Given the description of an element on the screen output the (x, y) to click on. 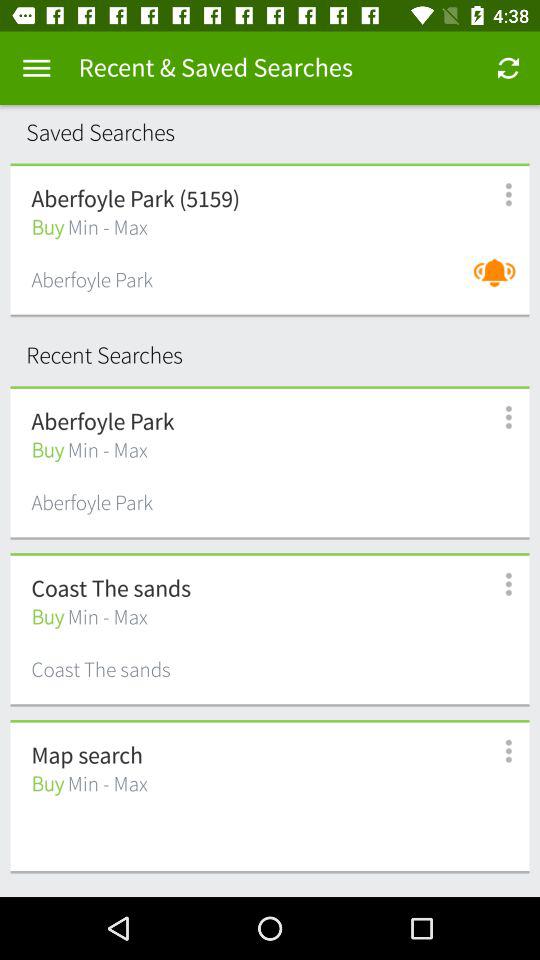
goto more information (497, 417)
